Given the description of an element on the screen output the (x, y) to click on. 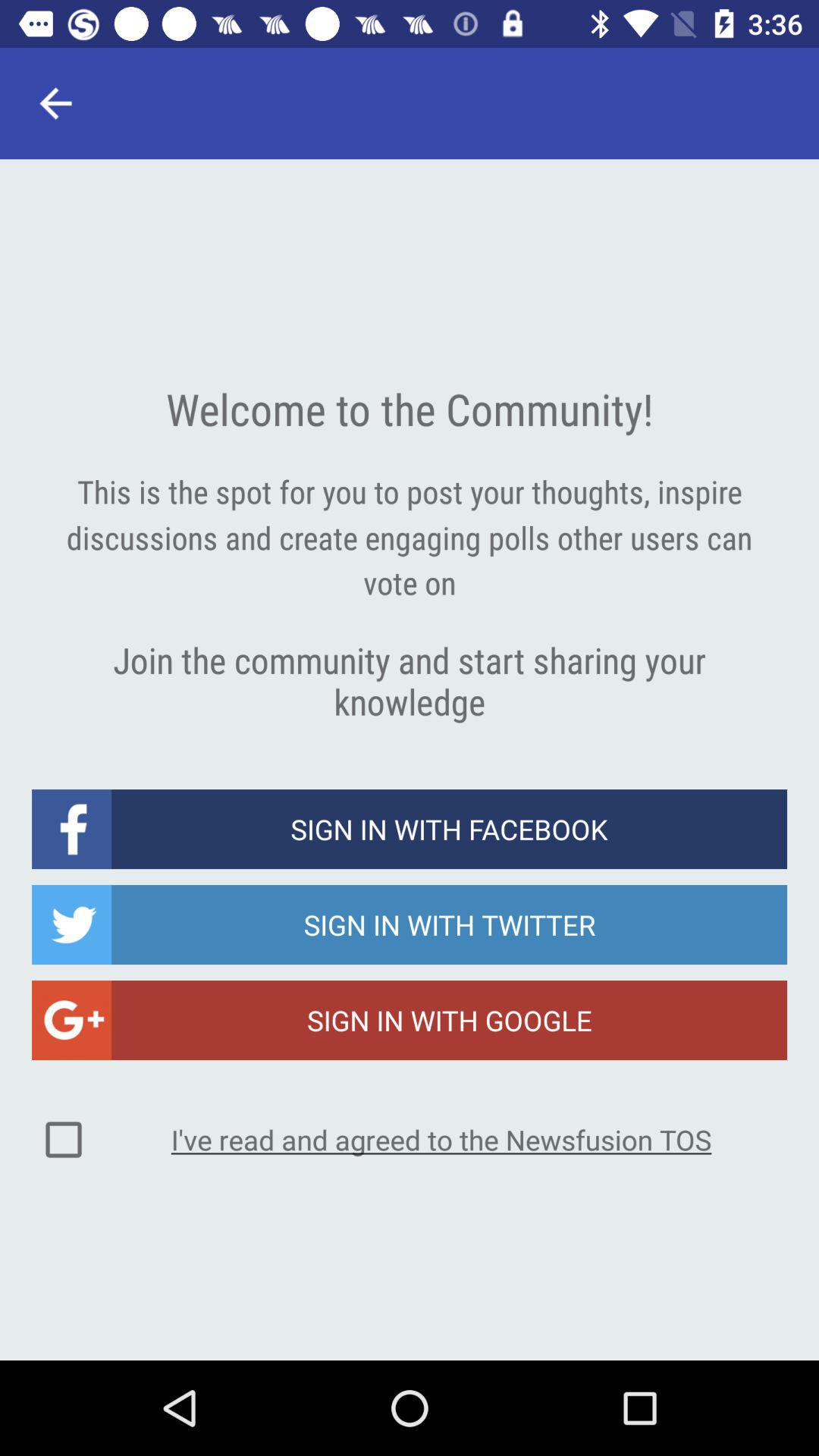
open the i ve read (441, 1139)
